Given the description of an element on the screen output the (x, y) to click on. 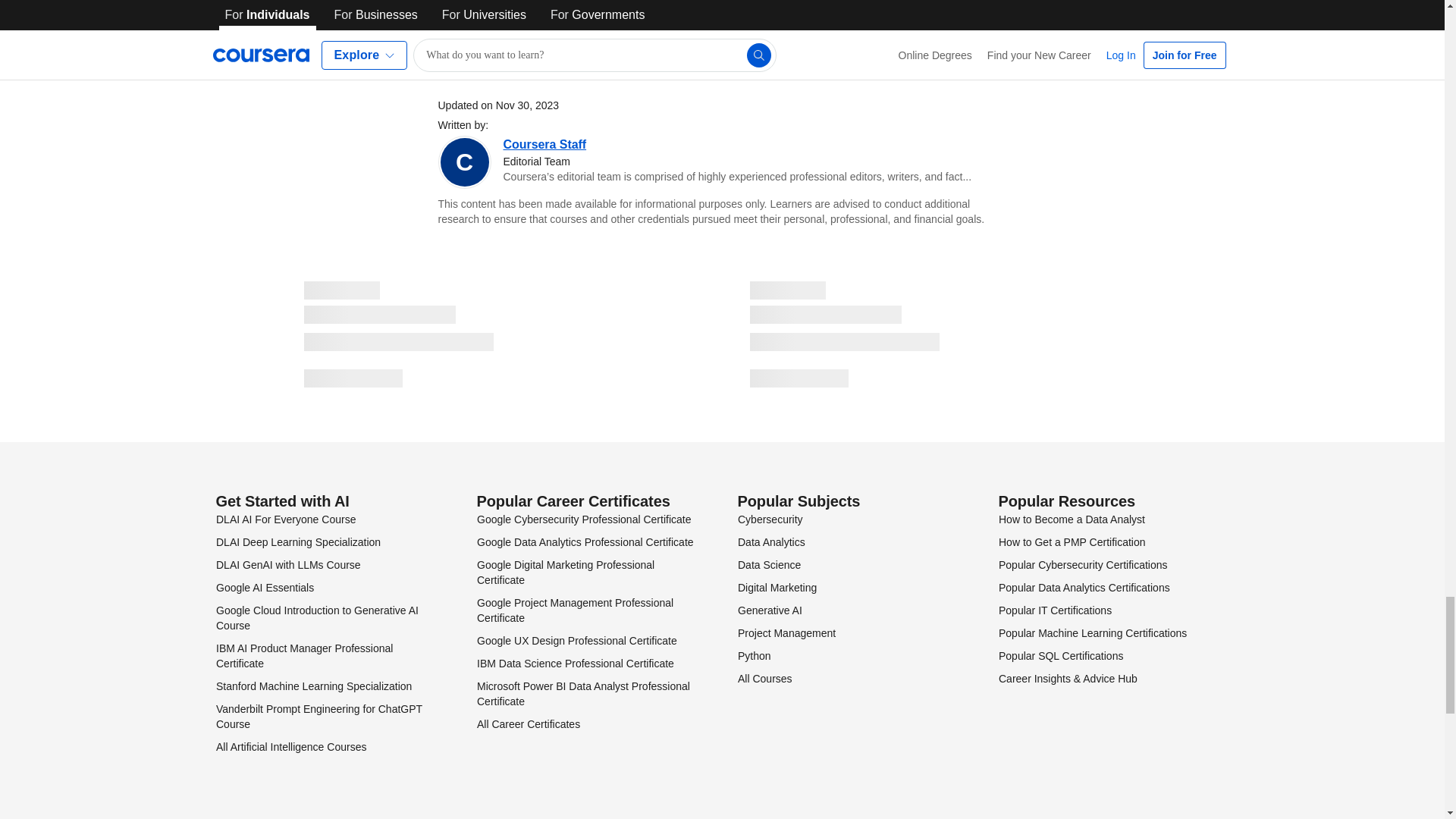
DLAI GenAI with LLMs Course (287, 564)
Google AI Essentials (264, 587)
Stanford Machine Learning Specialization (312, 686)
Coursera Staff (544, 144)
Google Cybersecurity Professional Certificate (583, 519)
Google Cloud Introduction to Generative AI Course (316, 617)
Vanderbilt Prompt Engineering for ChatGPT Course (318, 716)
DLAI Deep Learning Specialization (297, 541)
DLAI AI For Everyone Course (285, 519)
All Artificial Intelligence Courses (290, 746)
IBM AI Product Manager Professional Certificate (303, 655)
